Given the description of an element on the screen output the (x, y) to click on. 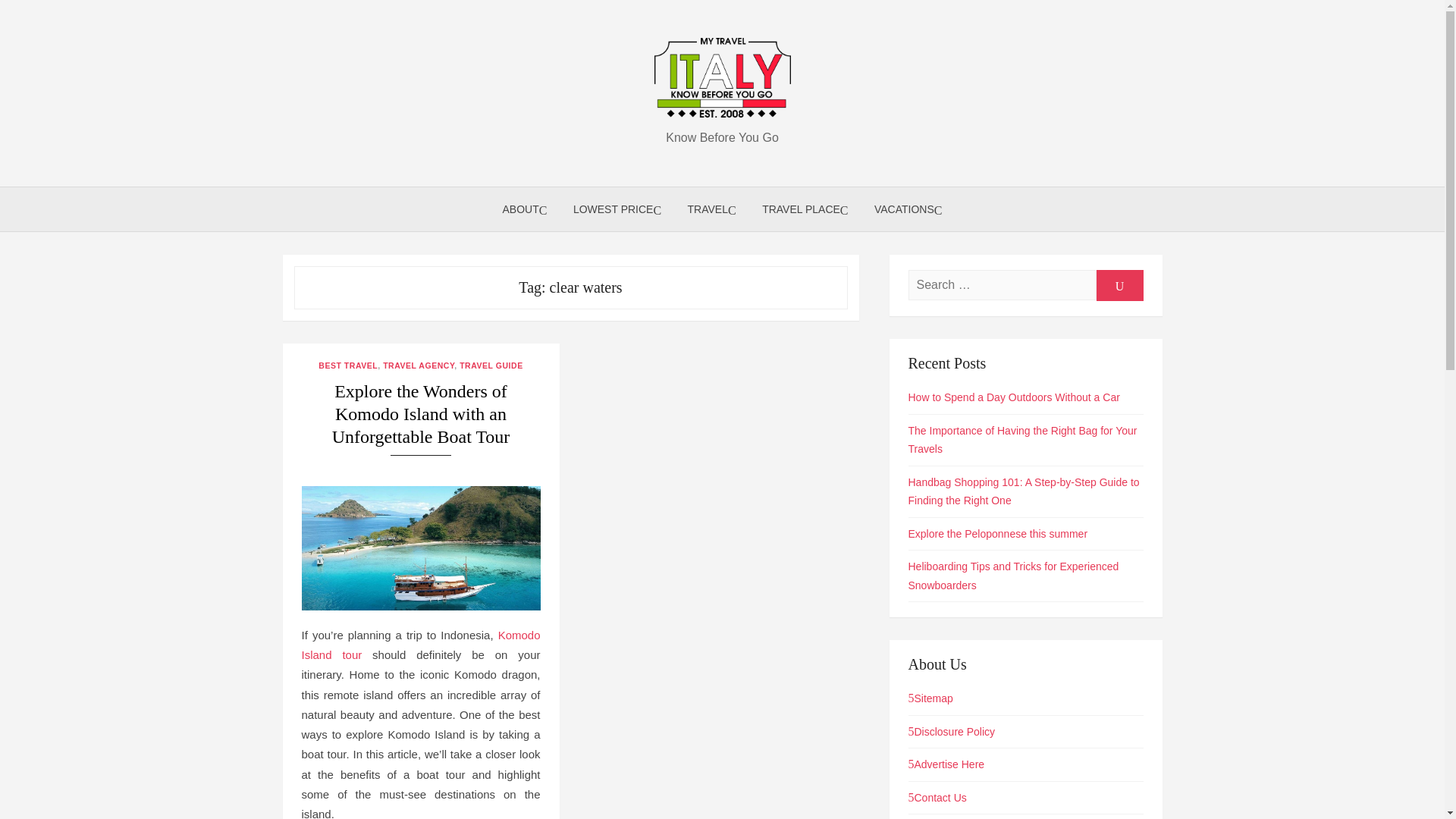
ABOUT (525, 209)
LOWEST PRICE (617, 209)
TRAVEL GUIDE (491, 365)
TRAVEL AGENCY (418, 365)
BEST TRAVEL (347, 365)
TRAVEL (712, 209)
TRAVEL PLACE (805, 209)
VACATIONS (908, 209)
